Given the description of an element on the screen output the (x, y) to click on. 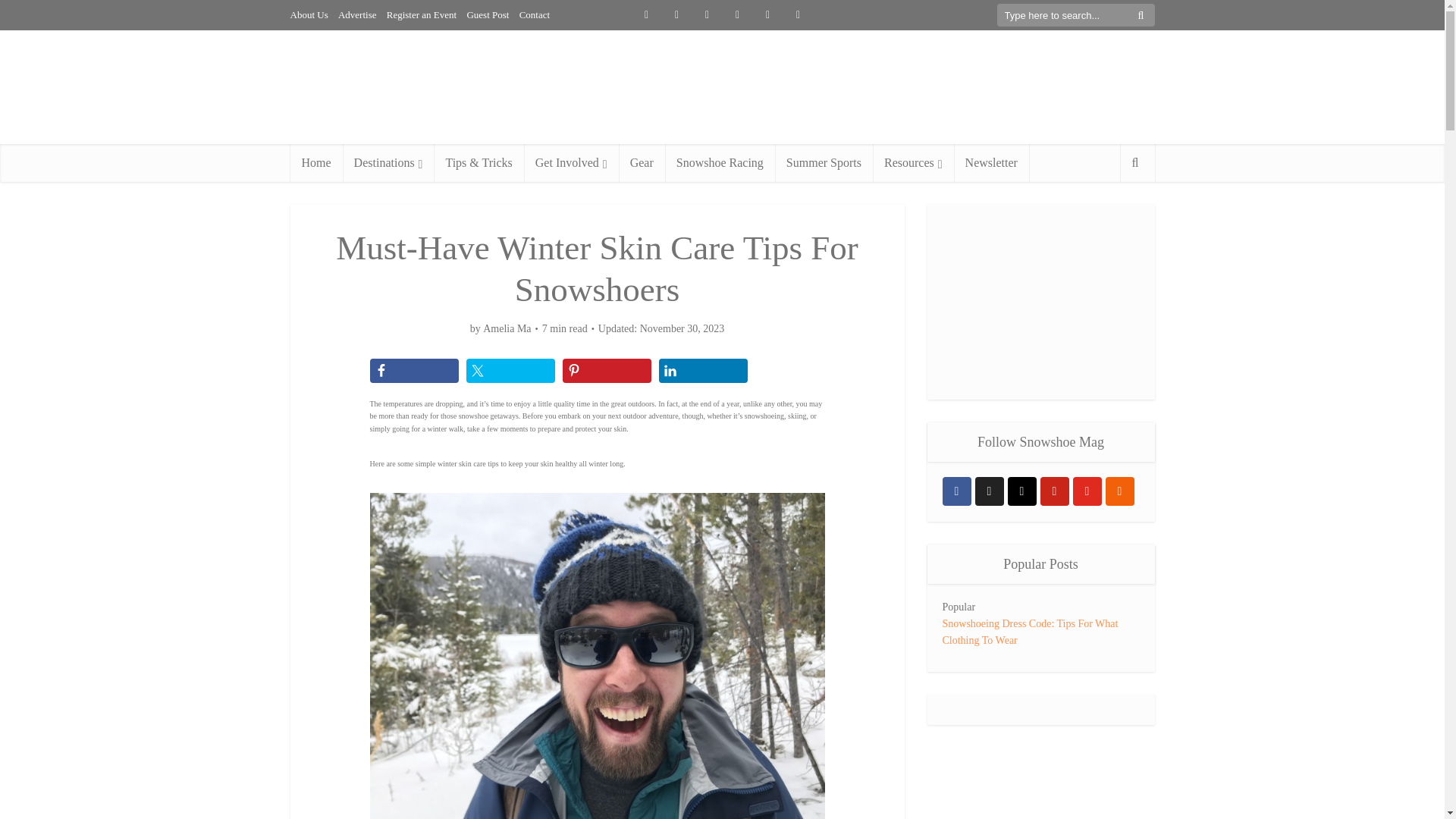
Destinations (387, 162)
Share on Pinterest (606, 370)
Share on Twitter (509, 370)
Guest Post (486, 14)
Type here to search... (1074, 15)
Gear (641, 162)
Resources (912, 162)
Summer Sports (823, 162)
Get Involved (571, 162)
Share on Facebook (413, 370)
